Given the description of an element on the screen output the (x, y) to click on. 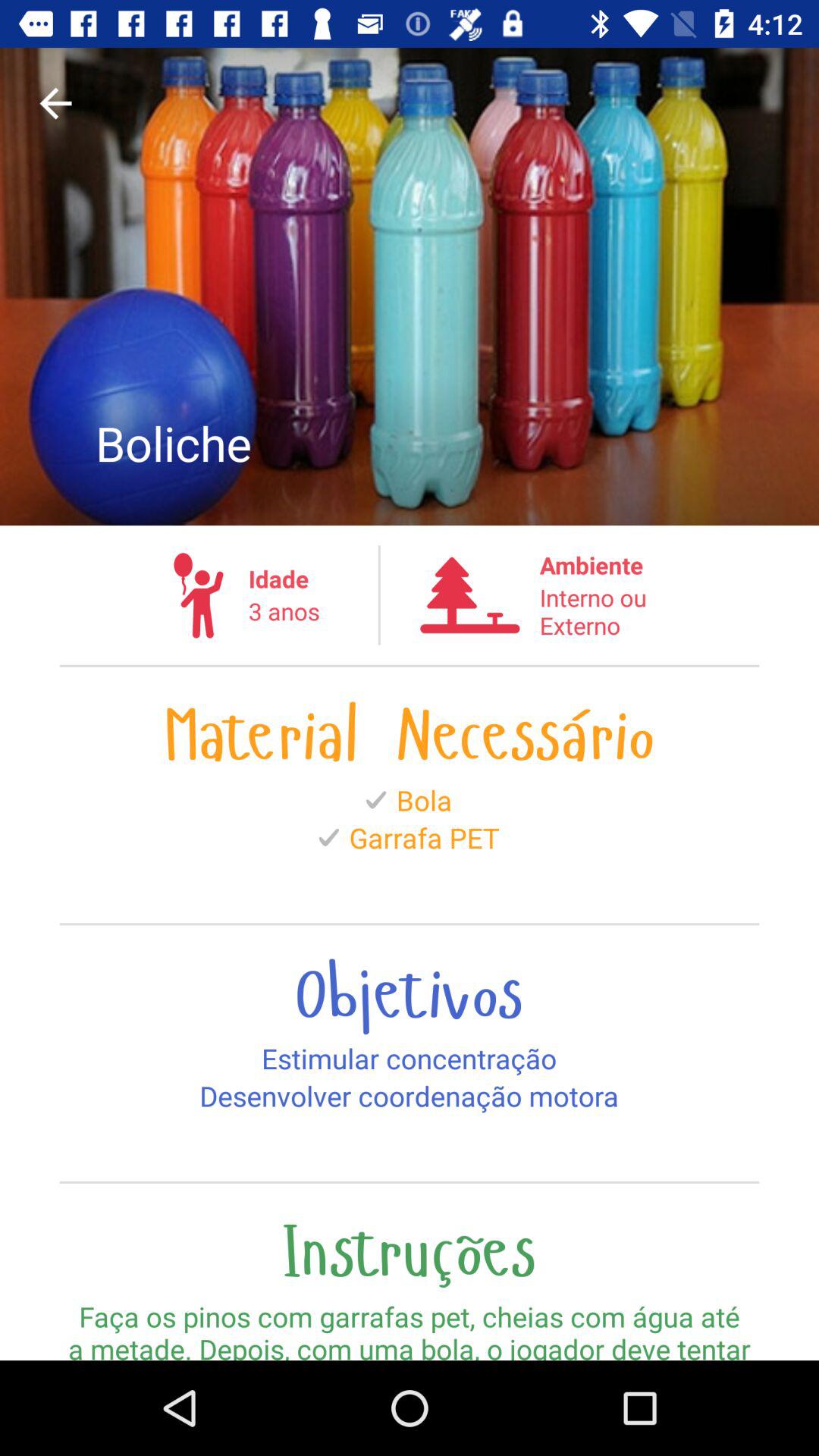
select icon at the top left corner (55, 103)
